Given the description of an element on the screen output the (x, y) to click on. 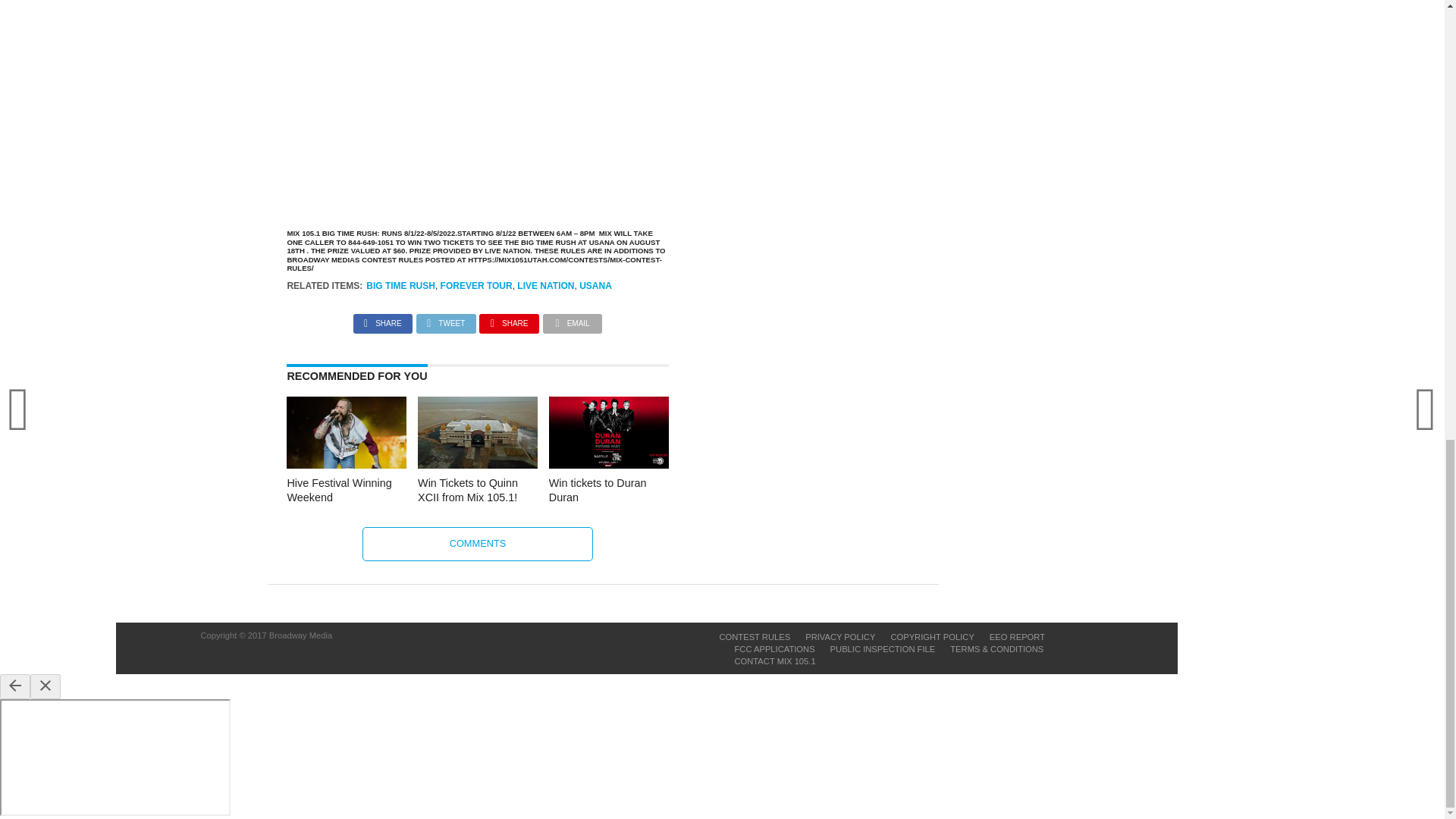
Tweet This Post (446, 318)
FOREVER TOUR (476, 285)
BIG TIME RUSH (400, 285)
Share on Facebook (382, 318)
LIVE NATION (544, 285)
Hive Festival Winning Weekend (346, 463)
Pin This Post (508, 318)
